Given the description of an element on the screen output the (x, y) to click on. 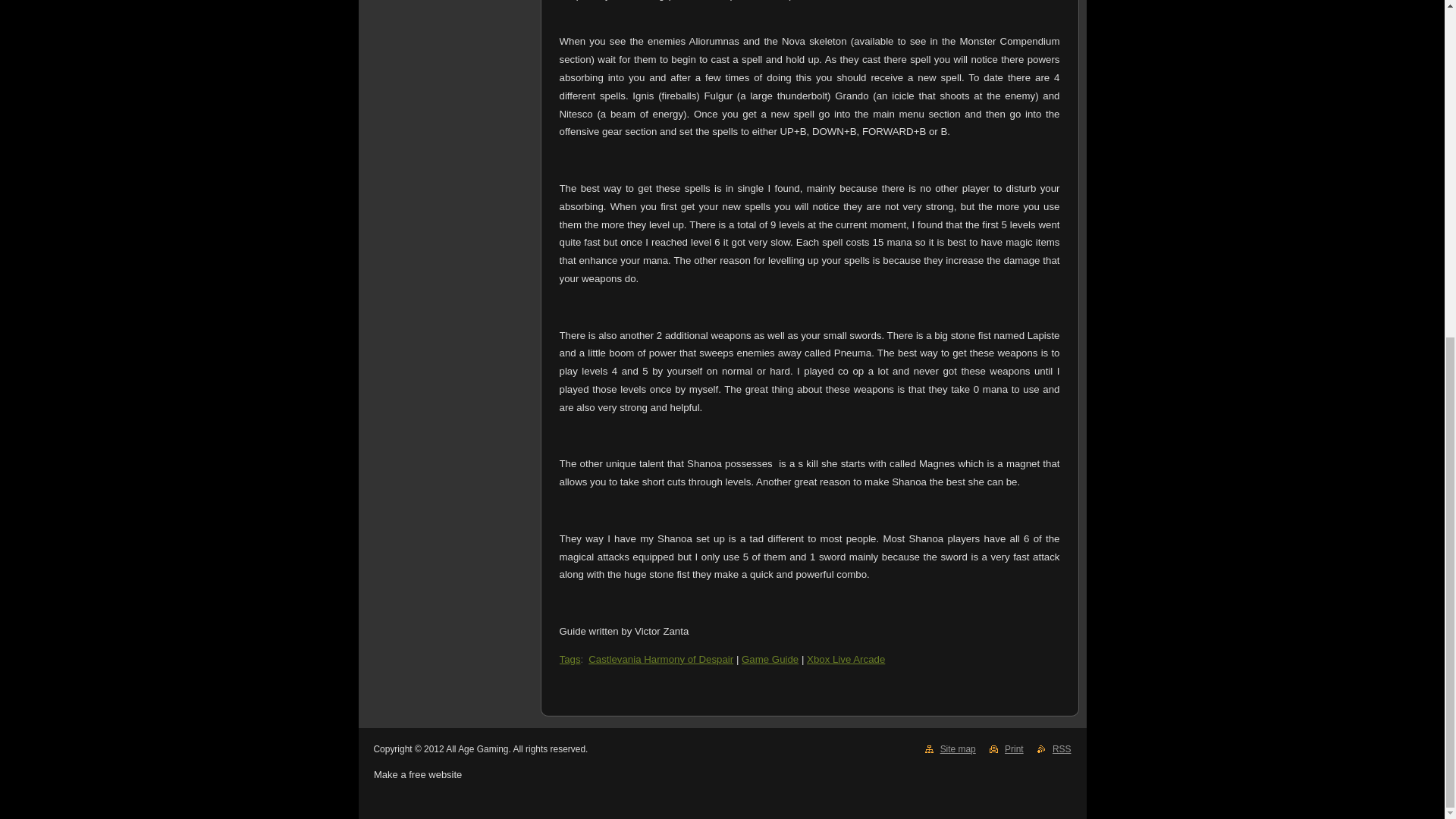
Print (1013, 748)
Castlevania Harmony of Despair (660, 659)
Go to site map. (957, 748)
Game Guide (769, 659)
Xbox Live Arcade (845, 659)
RSS Feeds (1061, 748)
RSS (1061, 748)
Print page (1013, 748)
Tags (569, 659)
Site map (957, 748)
Make a free website (417, 774)
